Given the description of an element on the screen output the (x, y) to click on. 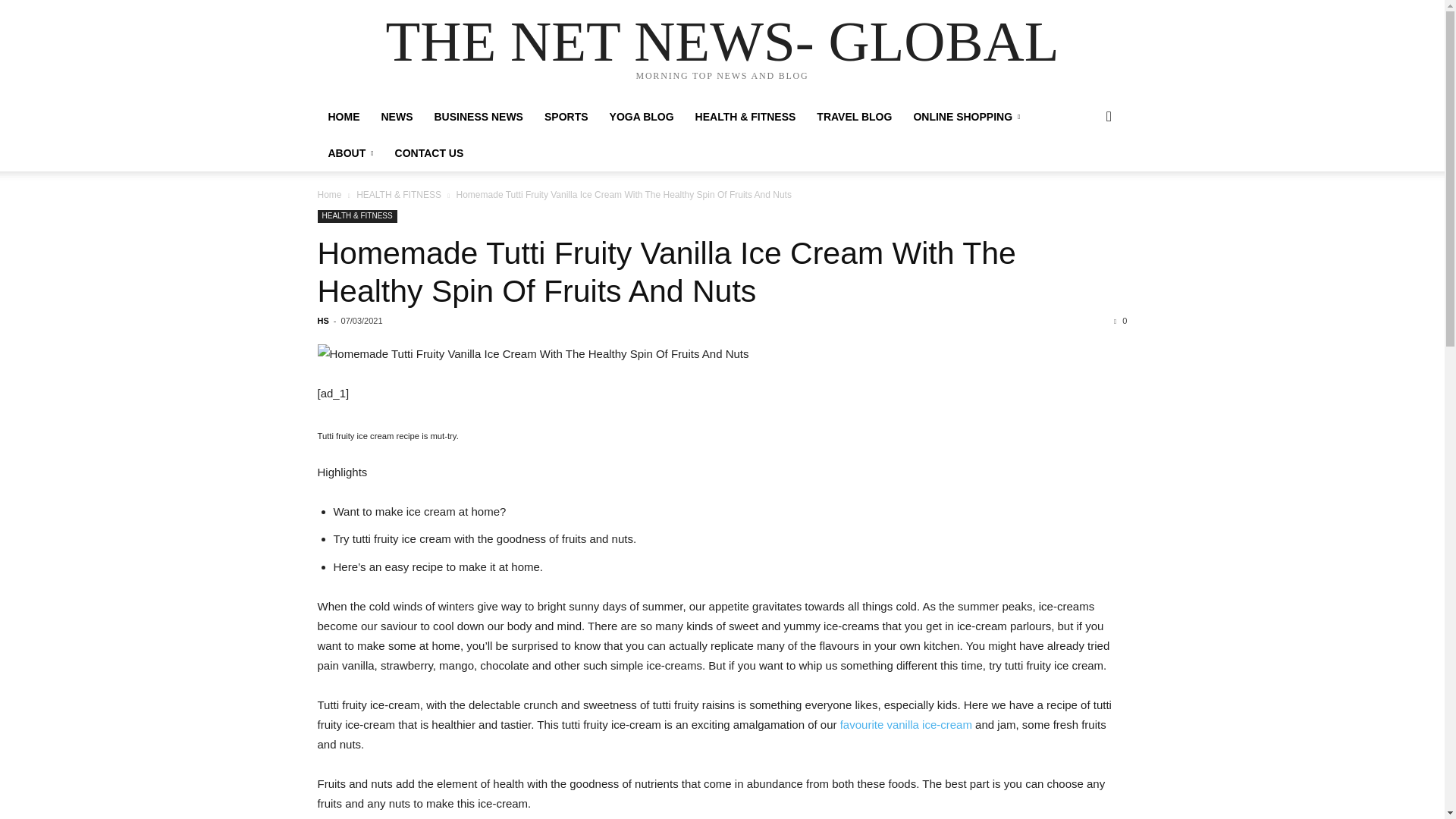
ONLINE SHOPPING (966, 116)
NEWS (396, 116)
HOME (343, 116)
YOGA BLOG (641, 116)
ABOUT (350, 152)
Home (328, 194)
THE NET NEWS- GLOBAL (721, 41)
TRAVEL BLOG (854, 116)
CONTACT US (429, 152)
Search (1085, 177)
SPORTS (566, 116)
BUSINESS NEWS (477, 116)
